Given the description of an element on the screen output the (x, y) to click on. 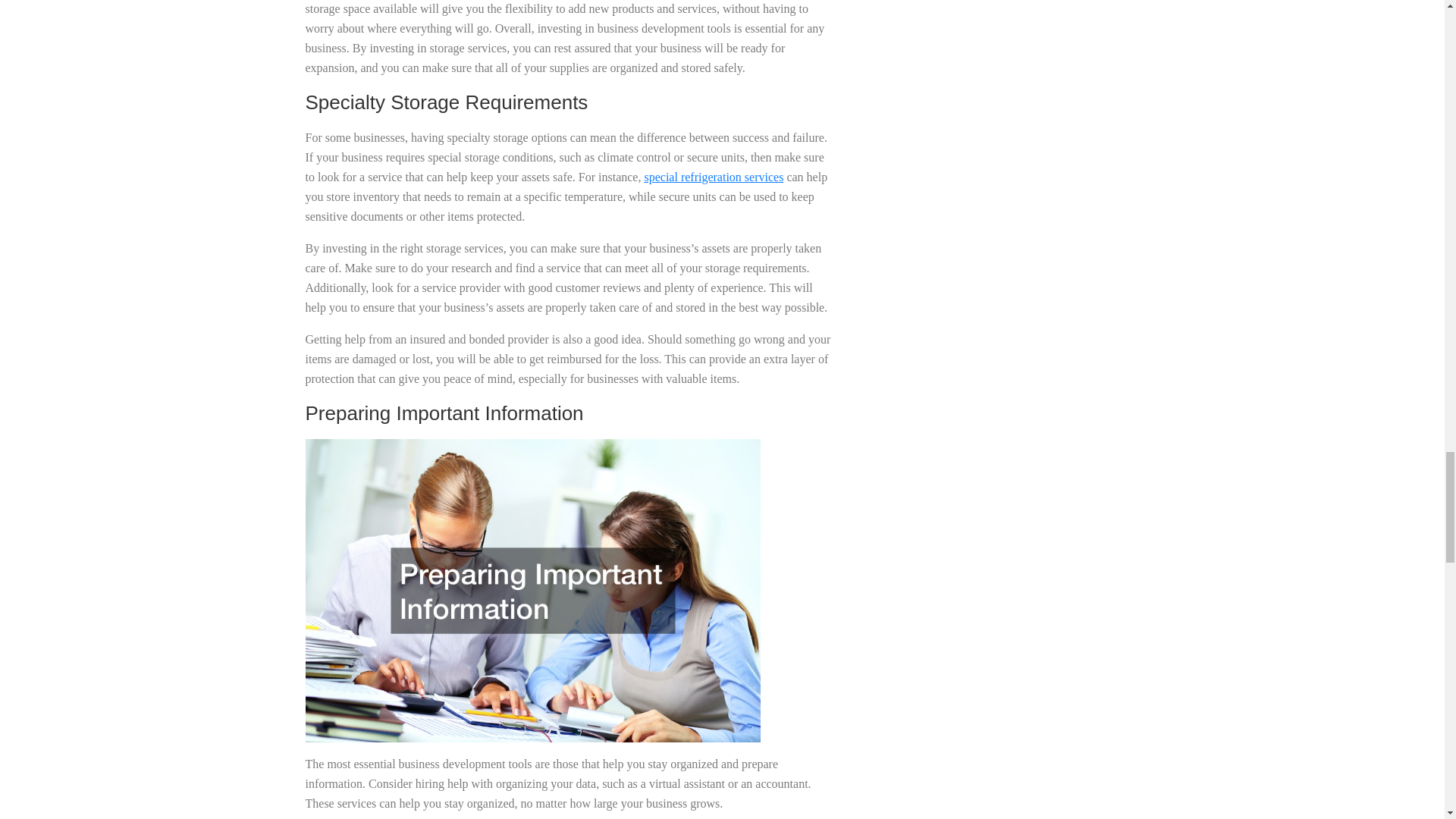
special refrigeration services (713, 176)
